Given the description of an element on the screen output the (x, y) to click on. 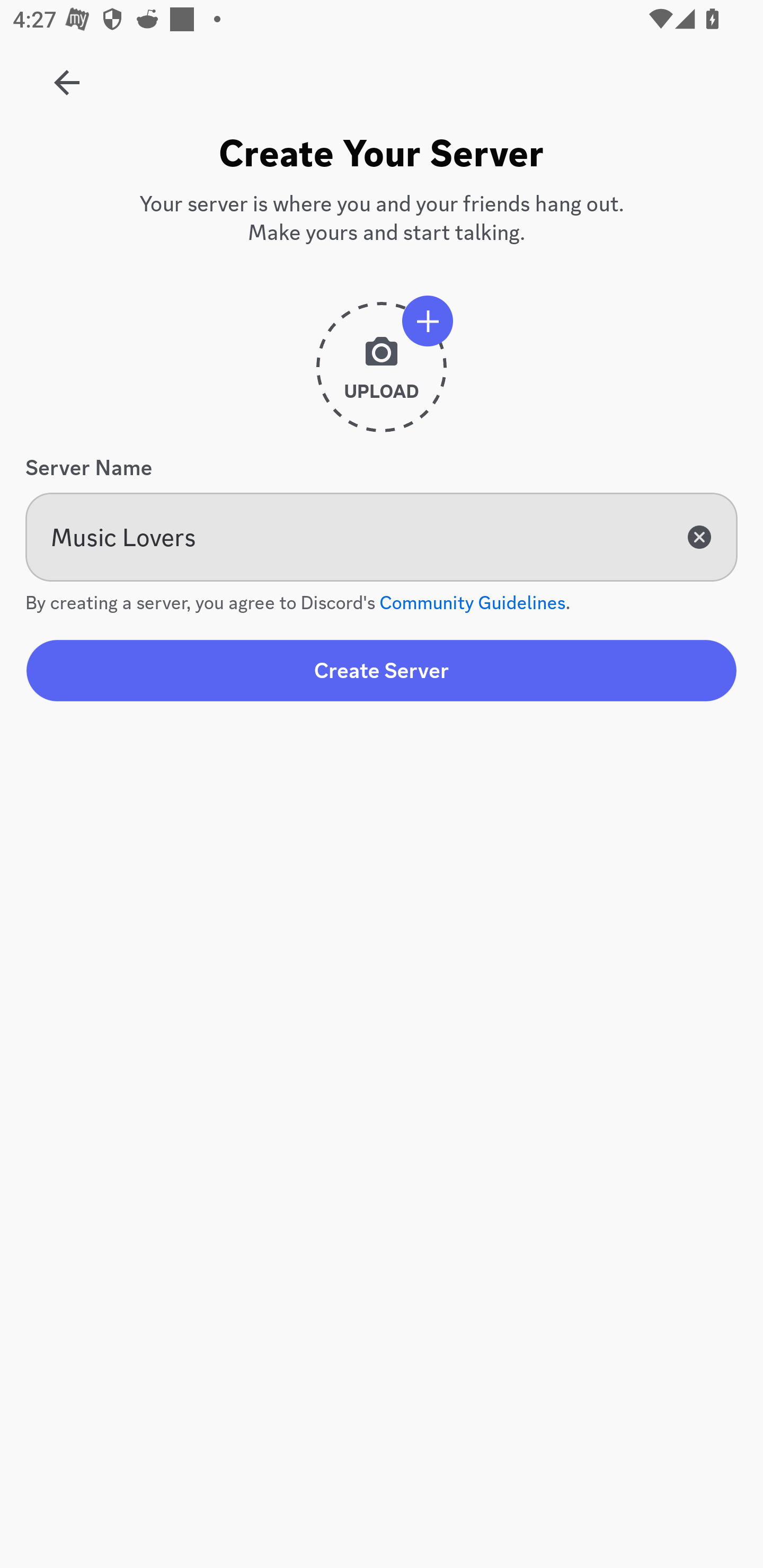
  Friends F (66, 75)
Search (373, 165)
Upload Image UPLOAD (381, 373)
Music Lovers (381, 536)
Clear (698, 536)
Create Server (381, 670)
